Given the description of an element on the screen output the (x, y) to click on. 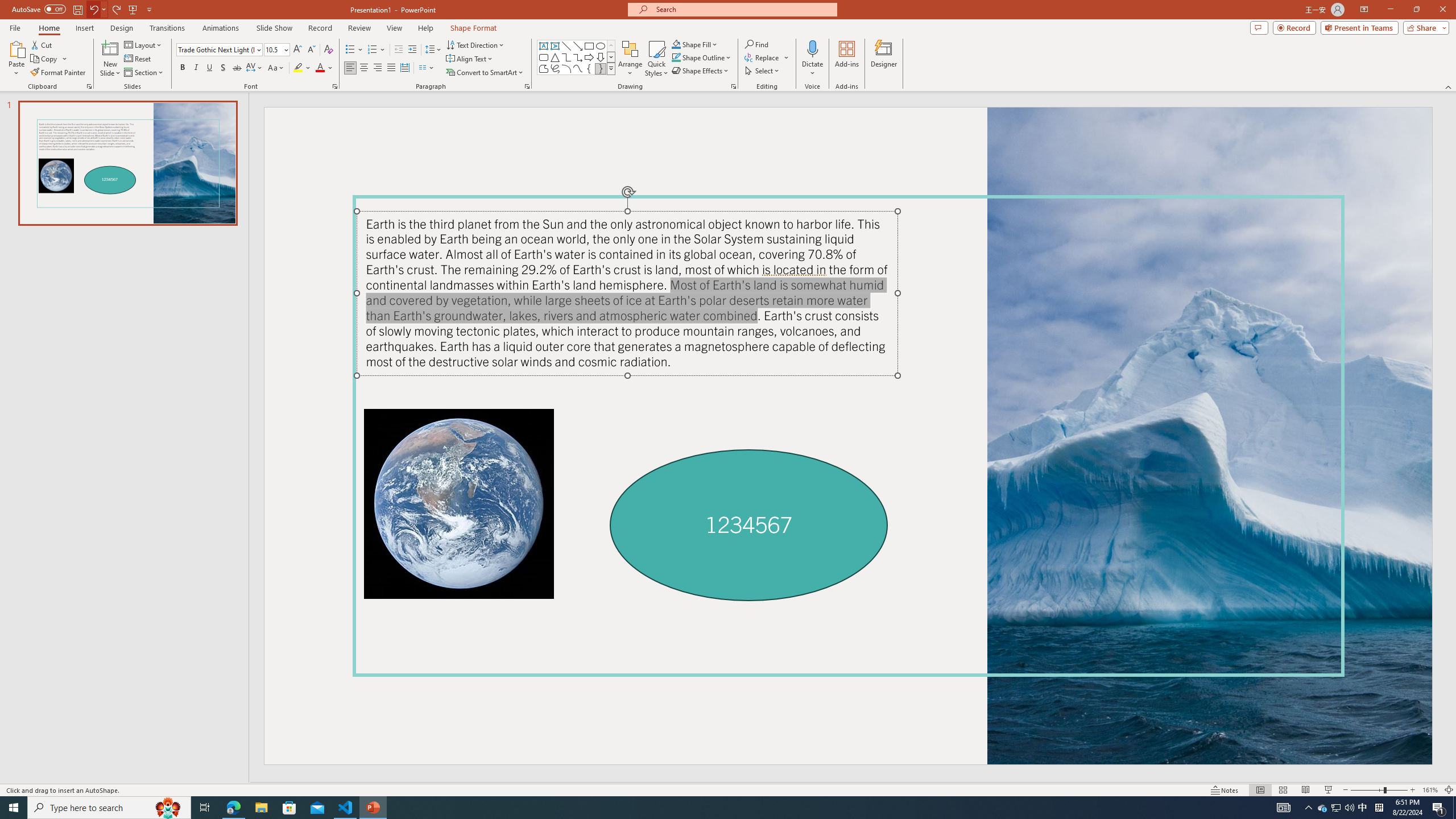
Class: MsoCommandBar (728, 789)
Left Brace (589, 68)
Font... (334, 85)
Freeform: Shape (543, 68)
Decrease Font Size (310, 49)
Align Right (377, 67)
AutomationID: ShapesInsertGallery (576, 57)
Connector: Elbow (566, 57)
